Given the description of an element on the screen output the (x, y) to click on. 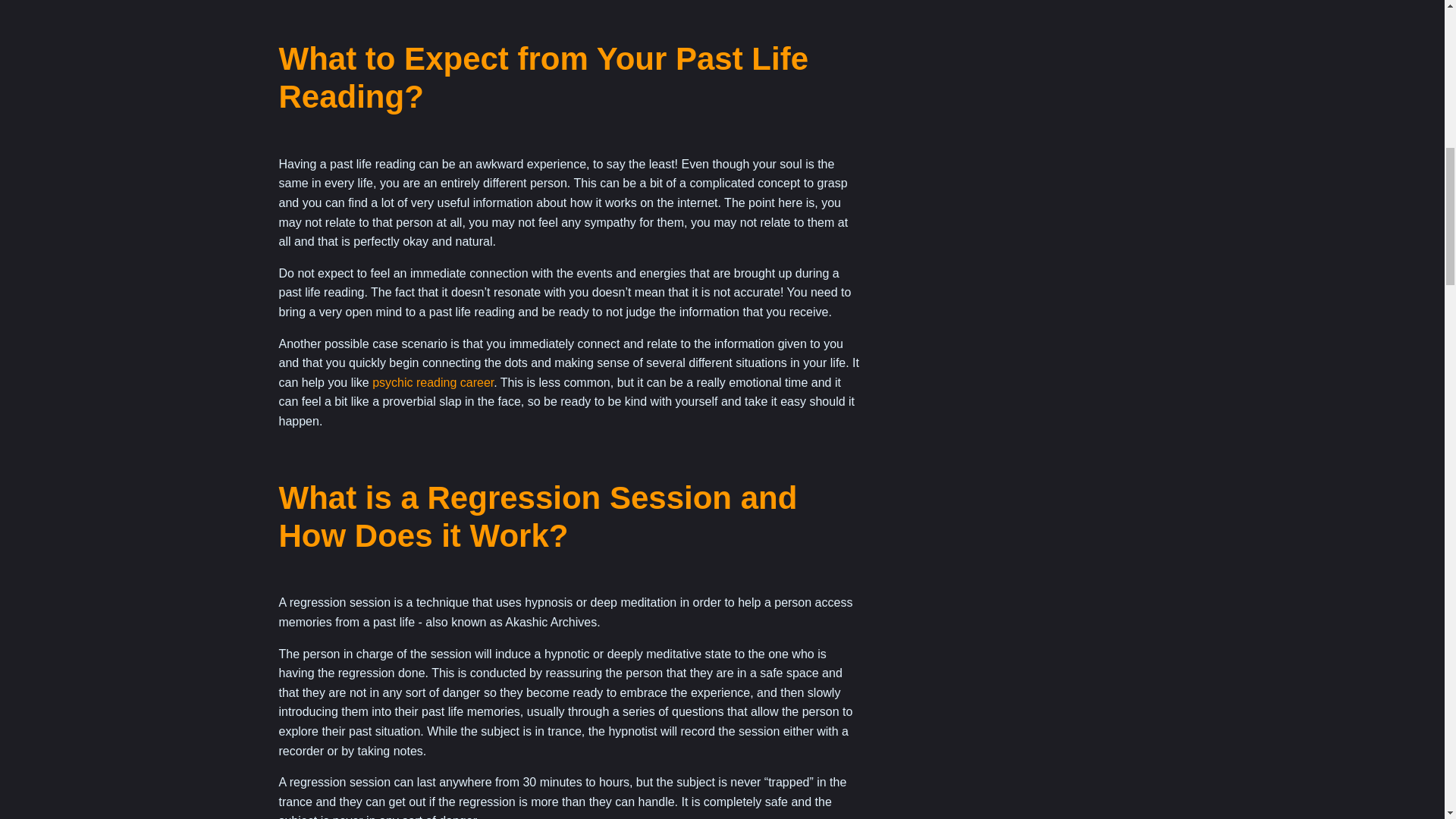
psychic reading career (432, 382)
